Given the description of an element on the screen output the (x, y) to click on. 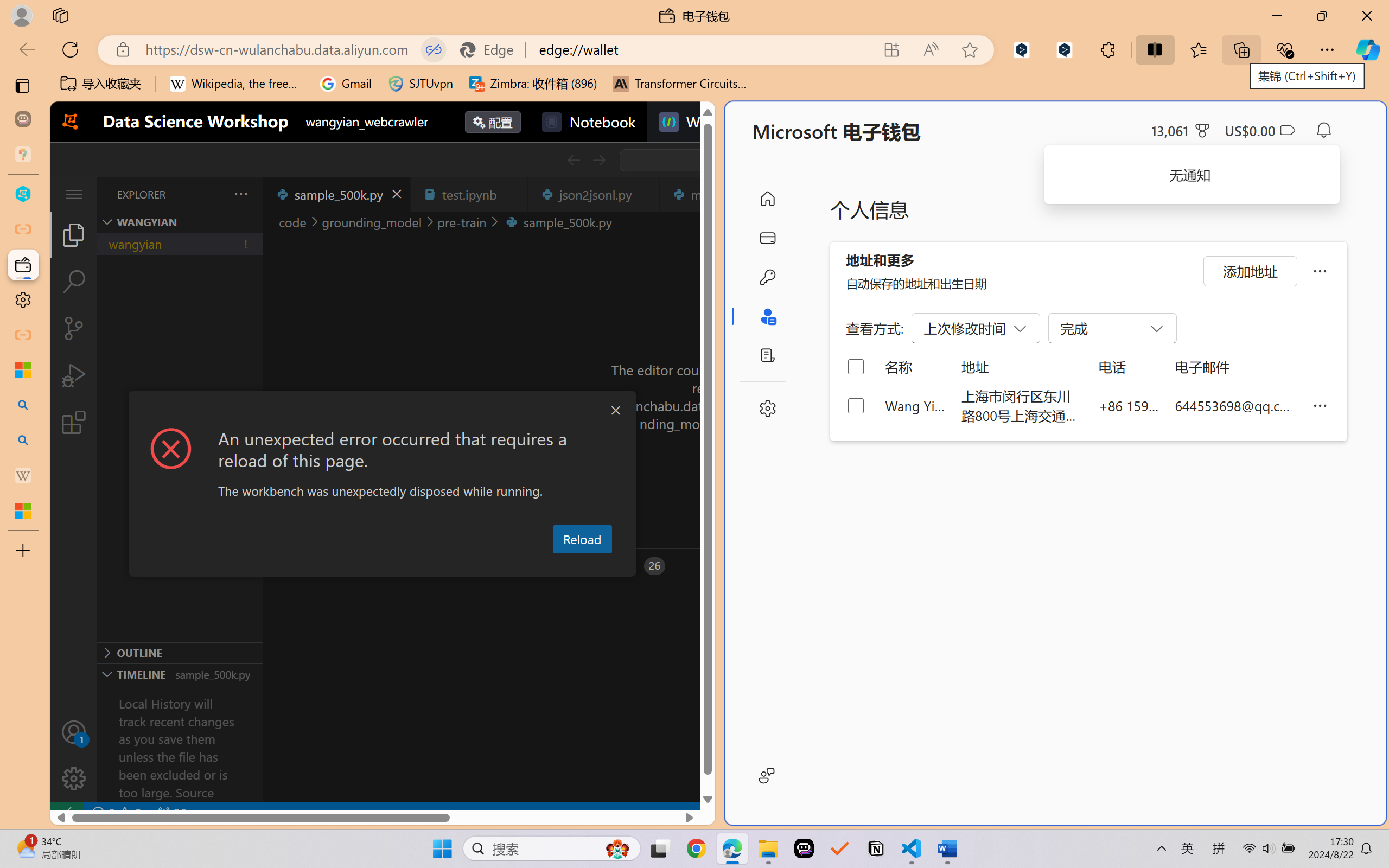
Close Dialog (615, 410)
Copilot (Ctrl+Shift+.) (1368, 49)
Wang Yian (914, 405)
Source Control (Ctrl+Shift+G) (73, 328)
